Given the description of an element on the screen output the (x, y) to click on. 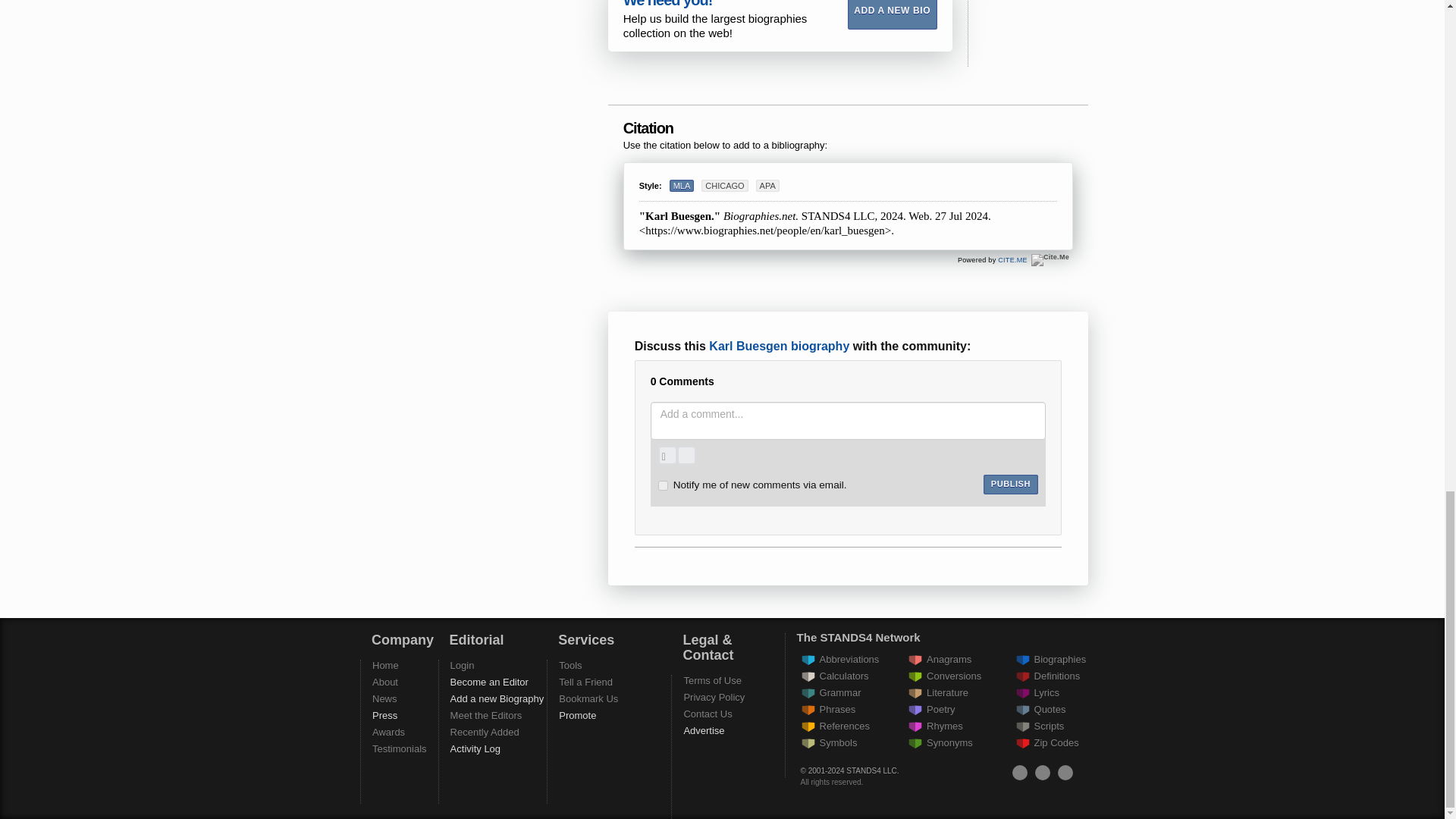
Copy to clipboard (1061, 180)
Cite.Me (1050, 259)
Record a sound (686, 455)
on (663, 485)
Cite.Me (1049, 259)
Cite.Me (1012, 259)
Upload an image (667, 455)
